Given the description of an element on the screen output the (x, y) to click on. 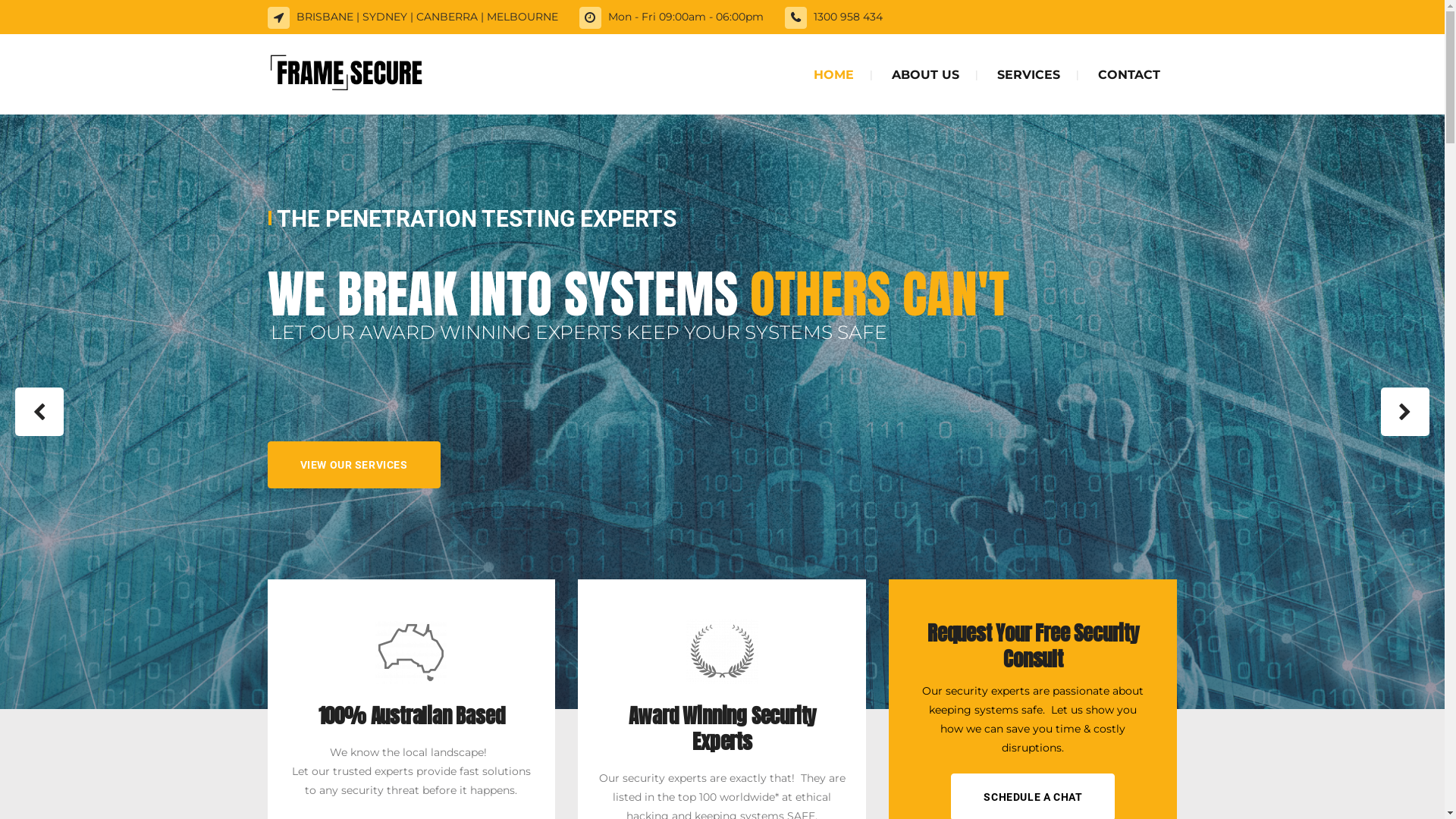
ABOUT US Element type: text (924, 74)
SERVICES Element type: text (1028, 74)
award winning Element type: hover (722, 651)
CONTACT Element type: text (1127, 74)
Frame Secure Australia Element type: hover (410, 652)
VIEW OUR SERVICES Element type: text (352, 464)
HOME Element type: text (833, 74)
